Given the description of an element on the screen output the (x, y) to click on. 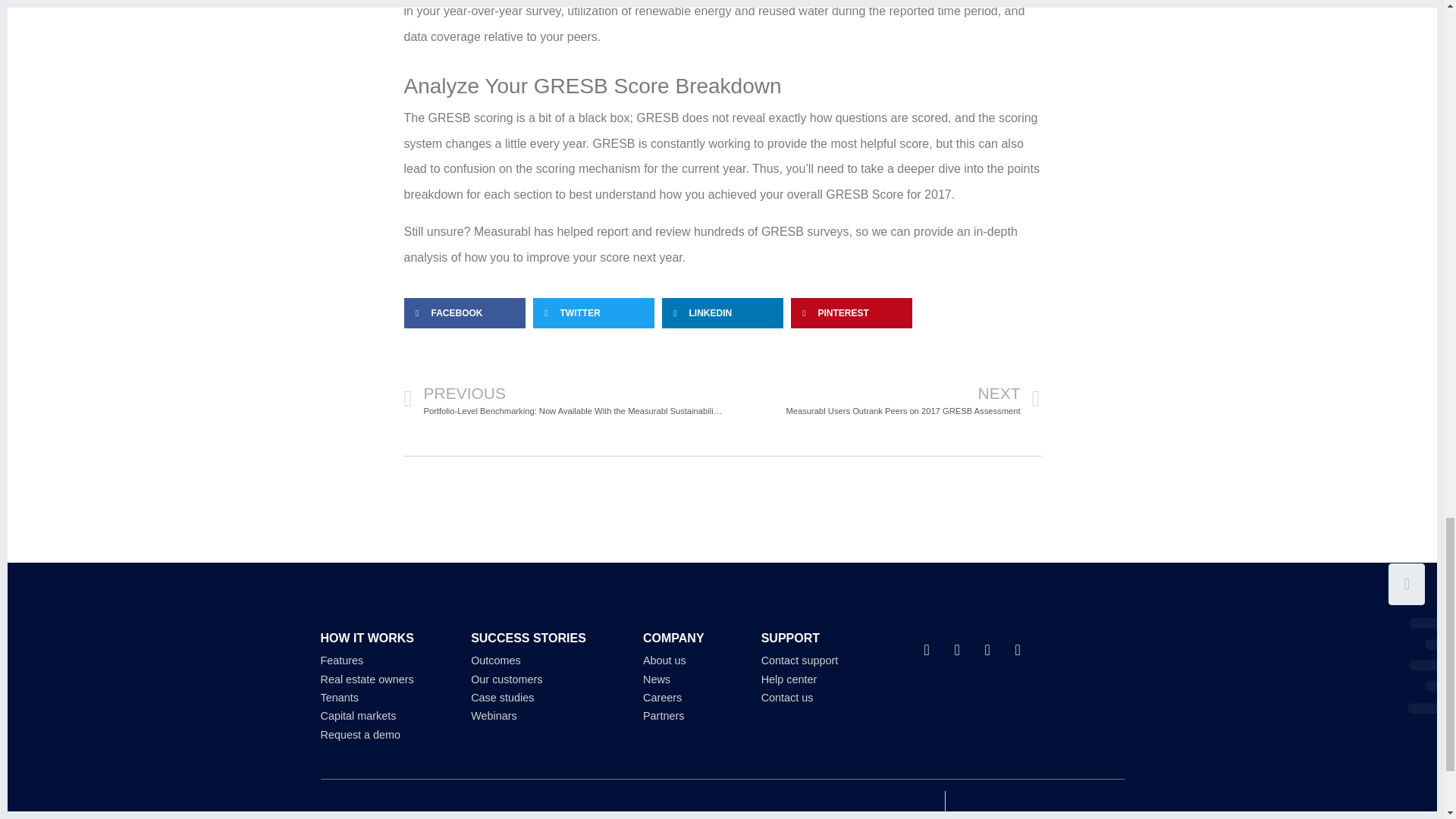
Real estate owners (366, 679)
Features (881, 399)
Tenants (341, 660)
